Given the description of an element on the screen output the (x, y) to click on. 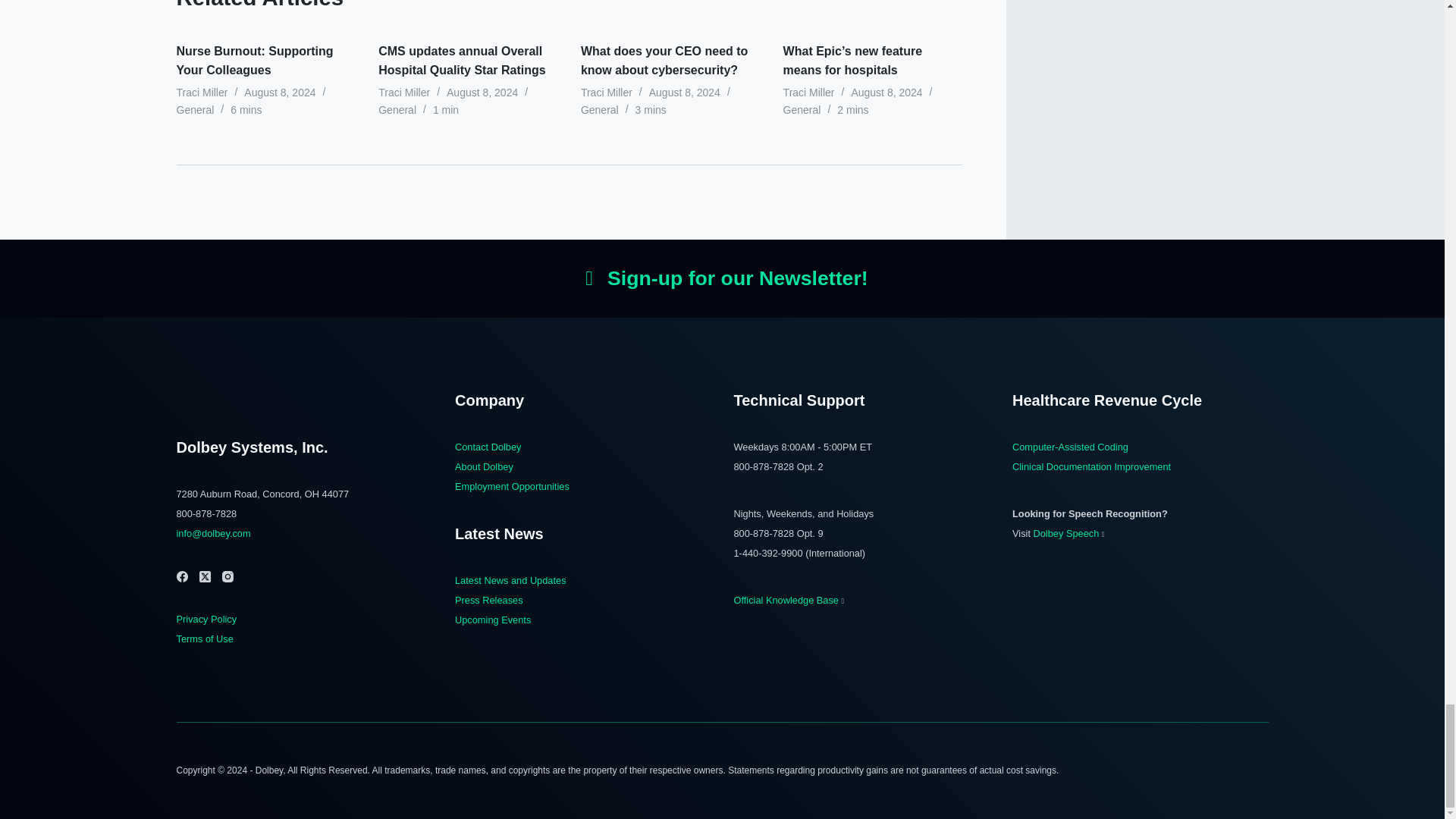
Posts by Traci Miller (605, 92)
Posts by Traci Miller (403, 92)
Posts by Traci Miller (808, 92)
Posts by Traci Miller (201, 92)
